Given the description of an element on the screen output the (x, y) to click on. 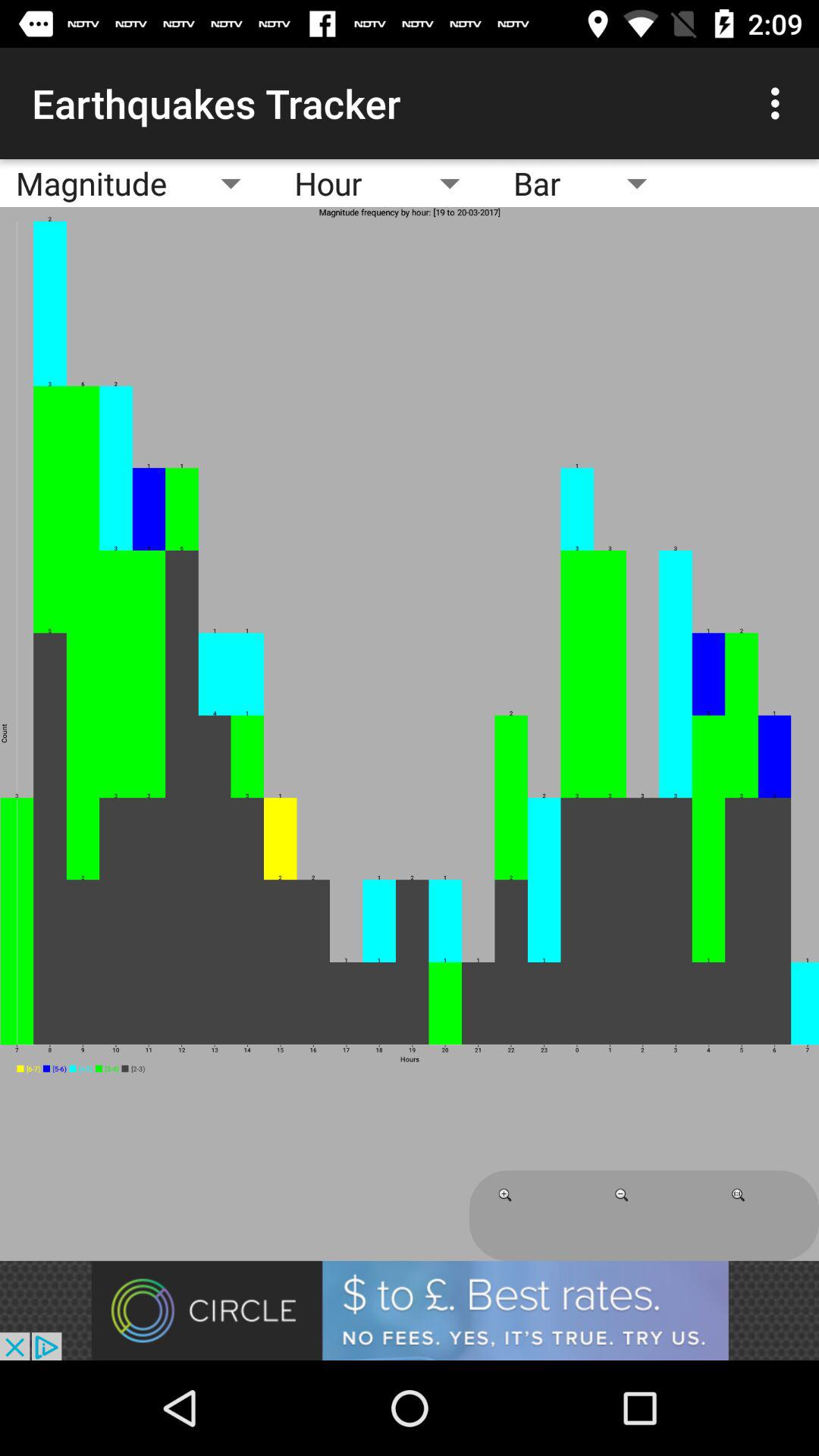
go to advertisement website (409, 1310)
